Given the description of an element on the screen output the (x, y) to click on. 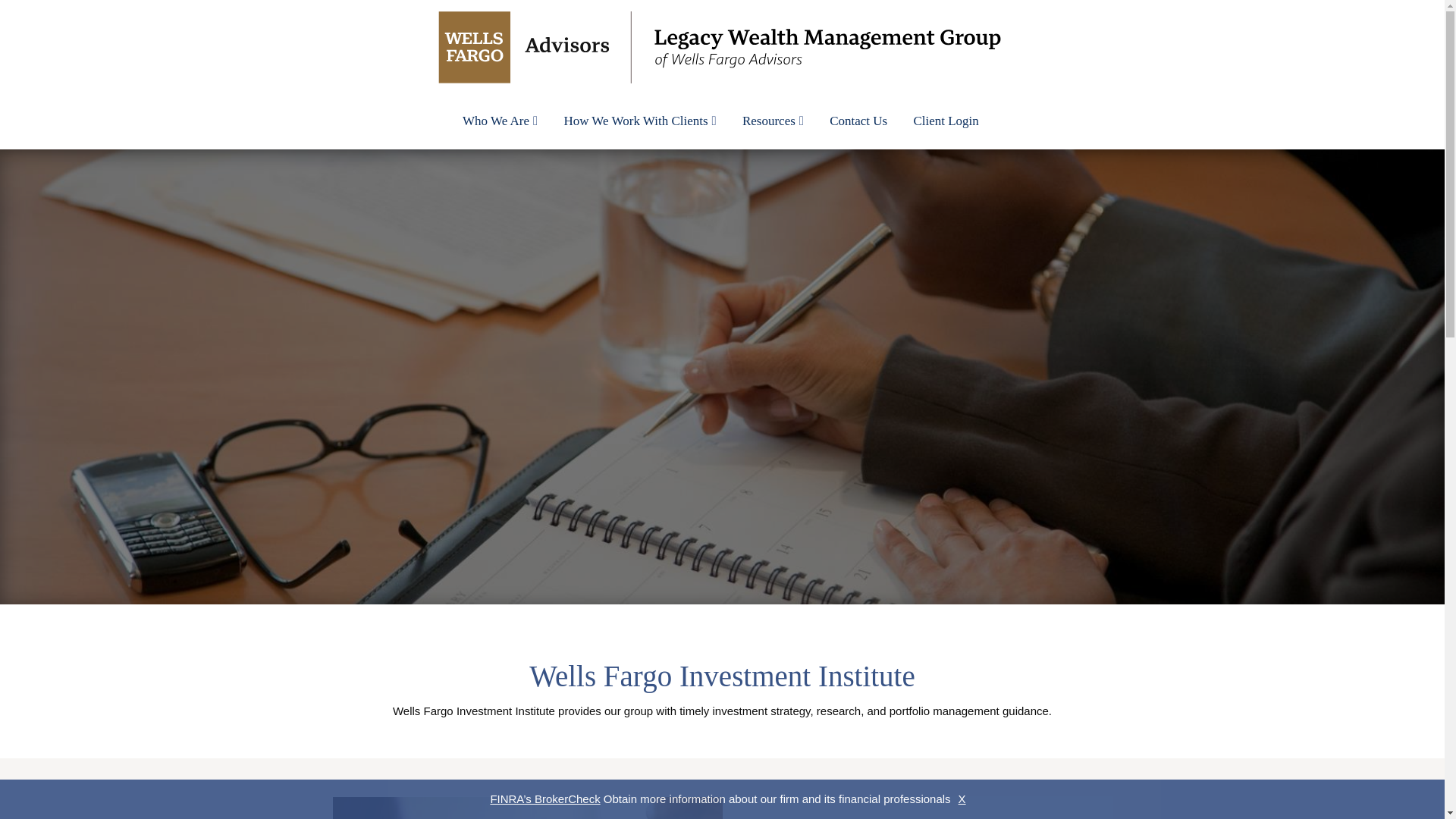
How We Work With Clients (638, 122)
Who We Are (499, 122)
Contact Us (858, 122)
Resources (772, 122)
Client Login (945, 122)
